Given the description of an element on the screen output the (x, y) to click on. 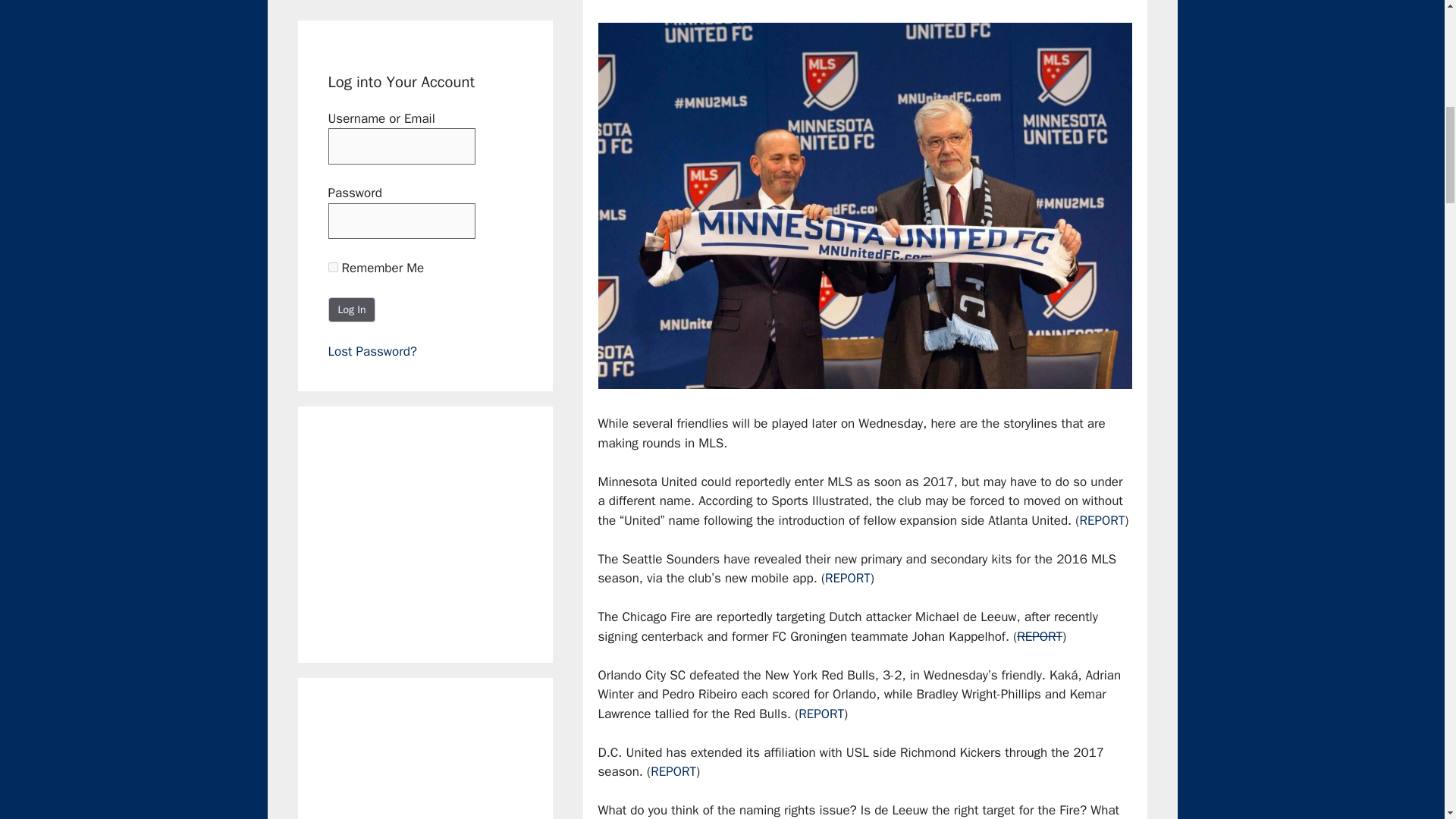
forever (332, 266)
Log In (351, 309)
